Given the description of an element on the screen output the (x, y) to click on. 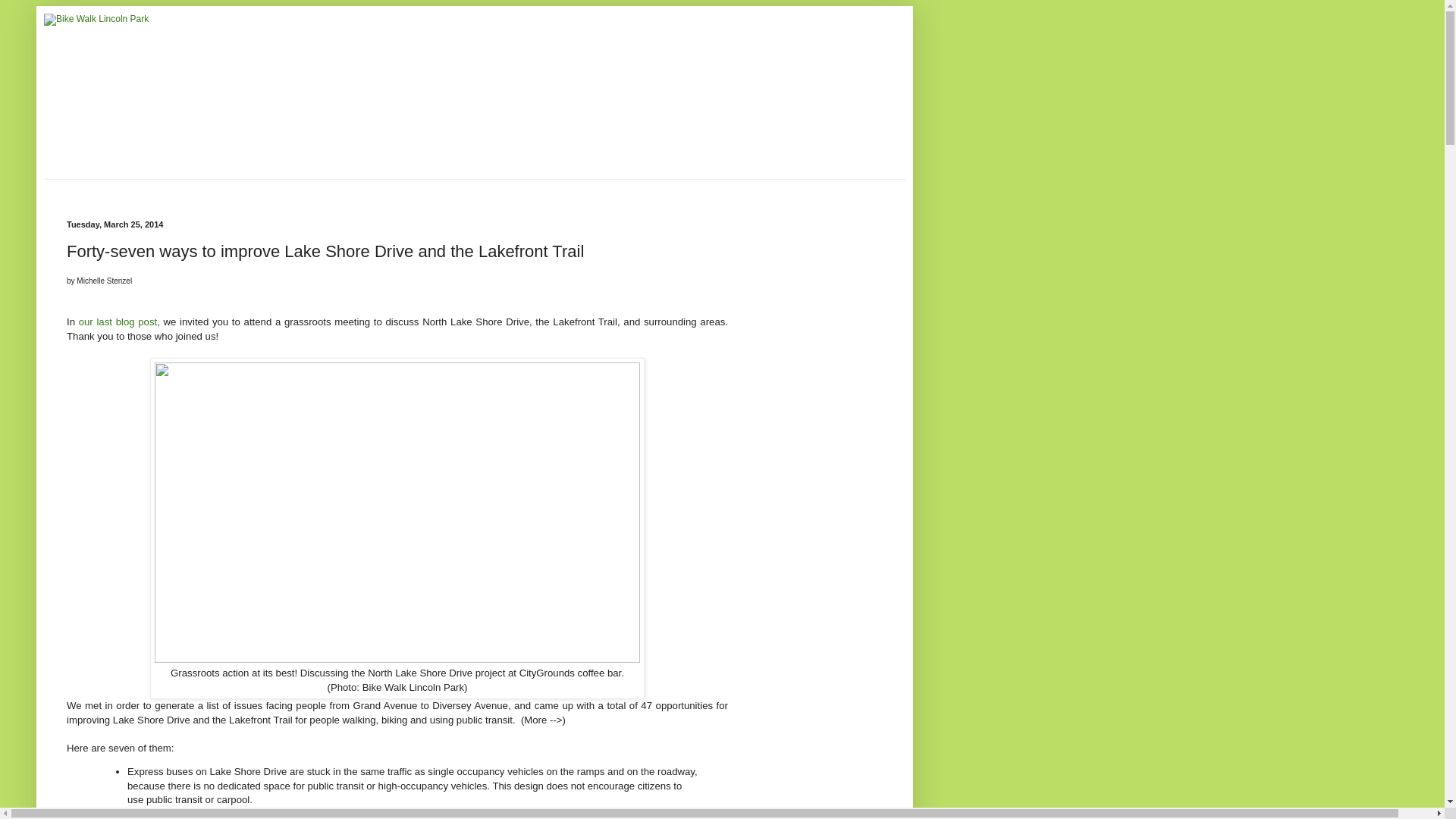
our last blog post (117, 321)
